Given the description of an element on the screen output the (x, y) to click on. 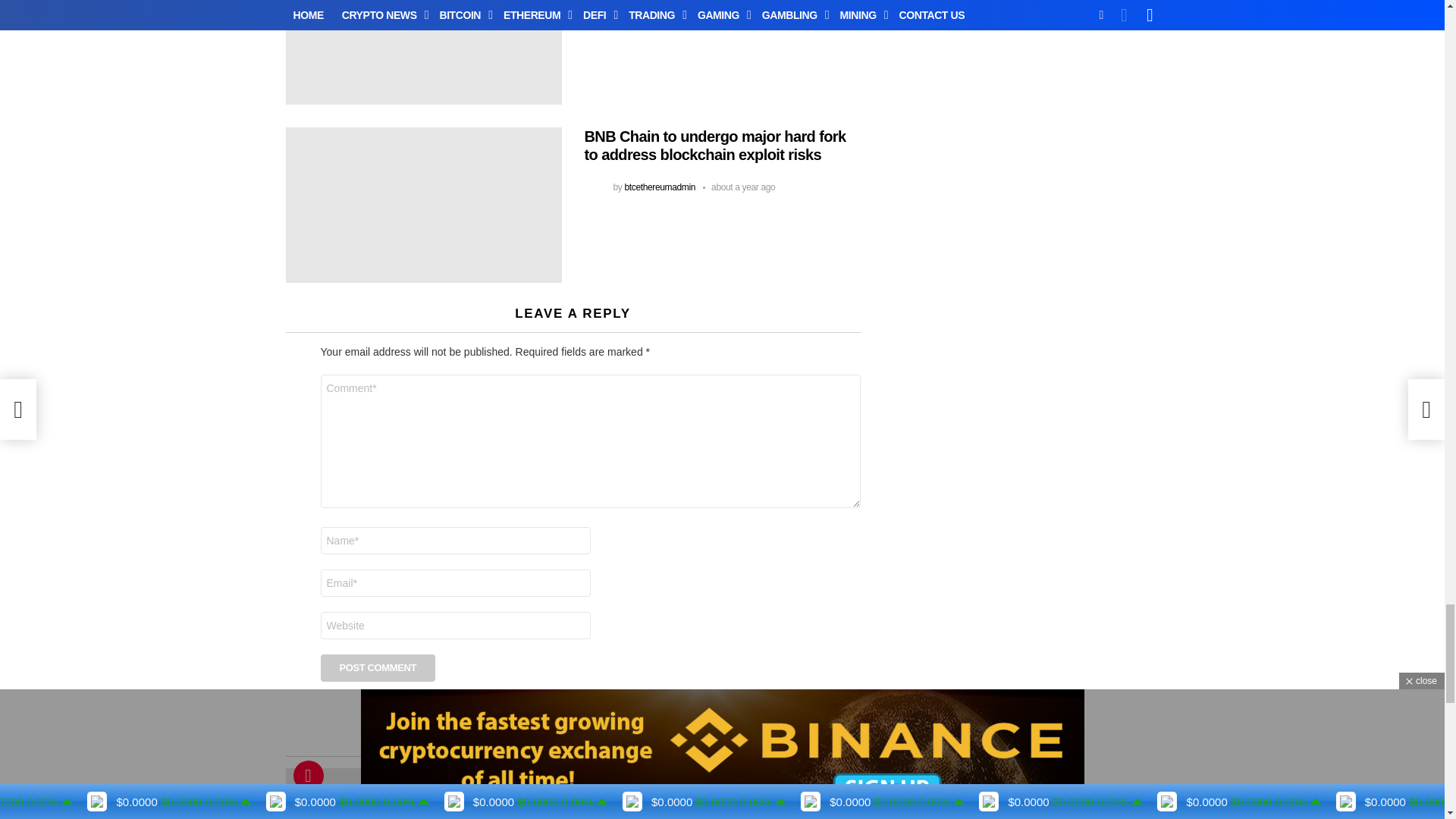
Post Comment (377, 667)
